Given the description of an element on the screen output the (x, y) to click on. 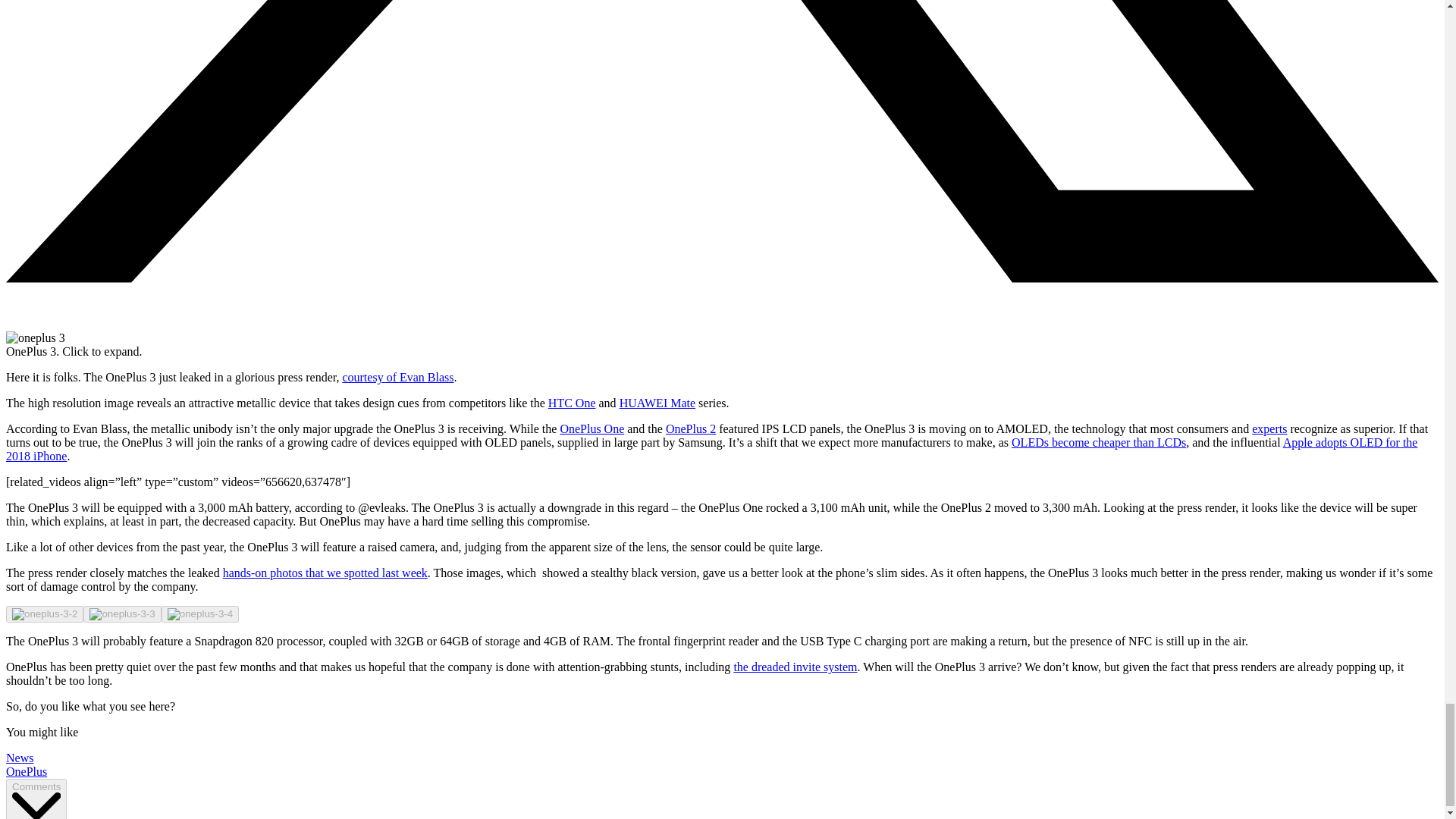
News (19, 757)
OnePlus One (591, 428)
OnePlus (25, 771)
oneplus-3-4 (199, 613)
oneplus-3-3 (121, 613)
HTC One (571, 402)
the dreaded invite system (795, 666)
Apple adopts OLED for the 2018 iPhone (710, 448)
experts (1269, 428)
HUAWEI Mate (657, 402)
courtesy of Evan Blass (397, 377)
OnePlus 2 (690, 428)
OLEDs become cheaper than LCDs (1098, 441)
oneplus 3 (35, 337)
hands-on photos that we spotted last week (325, 572)
